Given the description of an element on the screen output the (x, y) to click on. 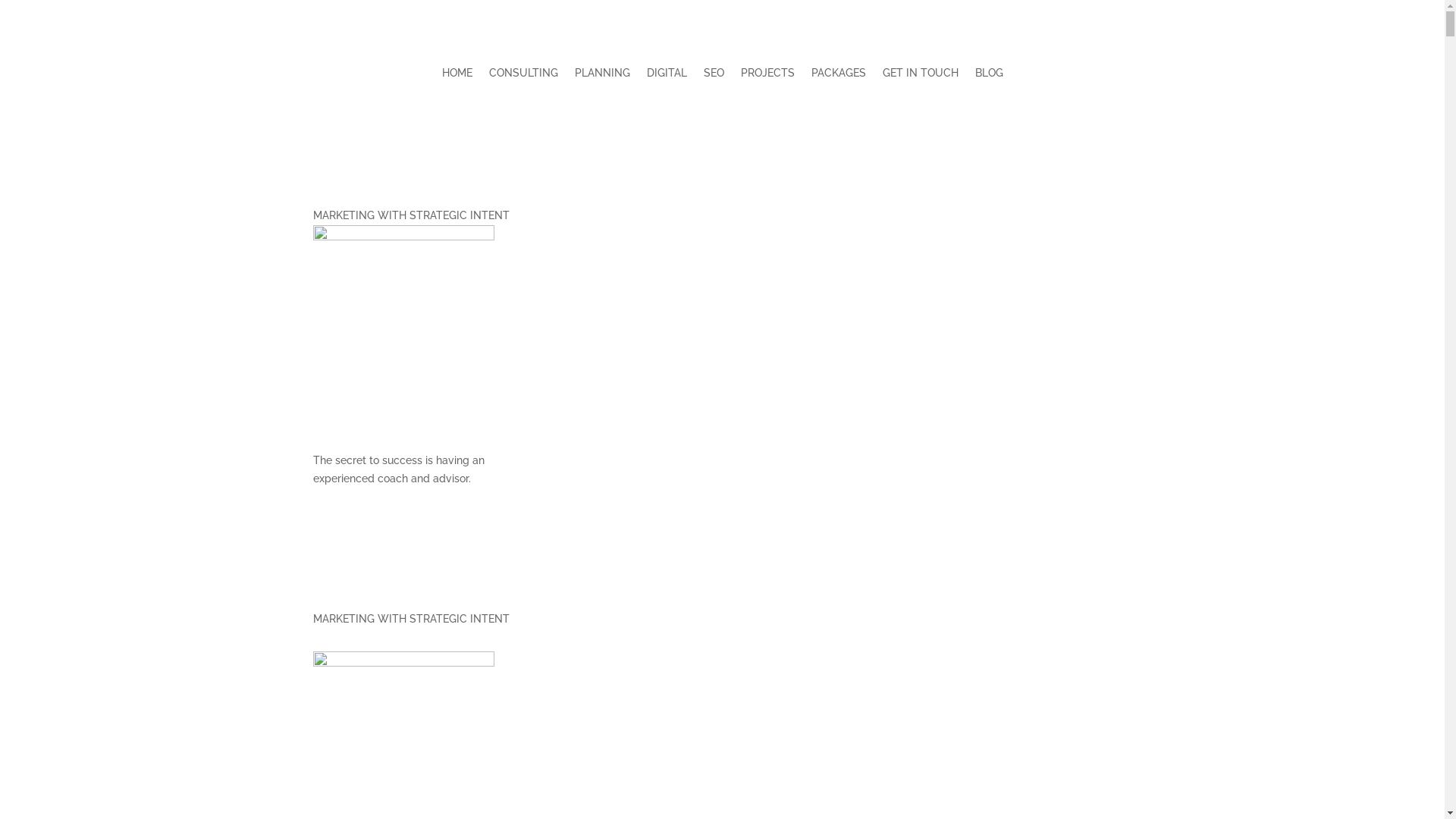
SEO Element type: text (713, 75)
GET IN TOUCH Element type: text (920, 75)
PACKAGES Element type: text (838, 75)
PROJECTS Element type: text (766, 75)
PLANNING Element type: text (602, 75)
HOME Element type: text (456, 75)
BLOG Element type: text (989, 75)
CONSULTING Element type: text (522, 75)
DIGITAL Element type: text (666, 75)
